Given the description of an element on the screen output the (x, y) to click on. 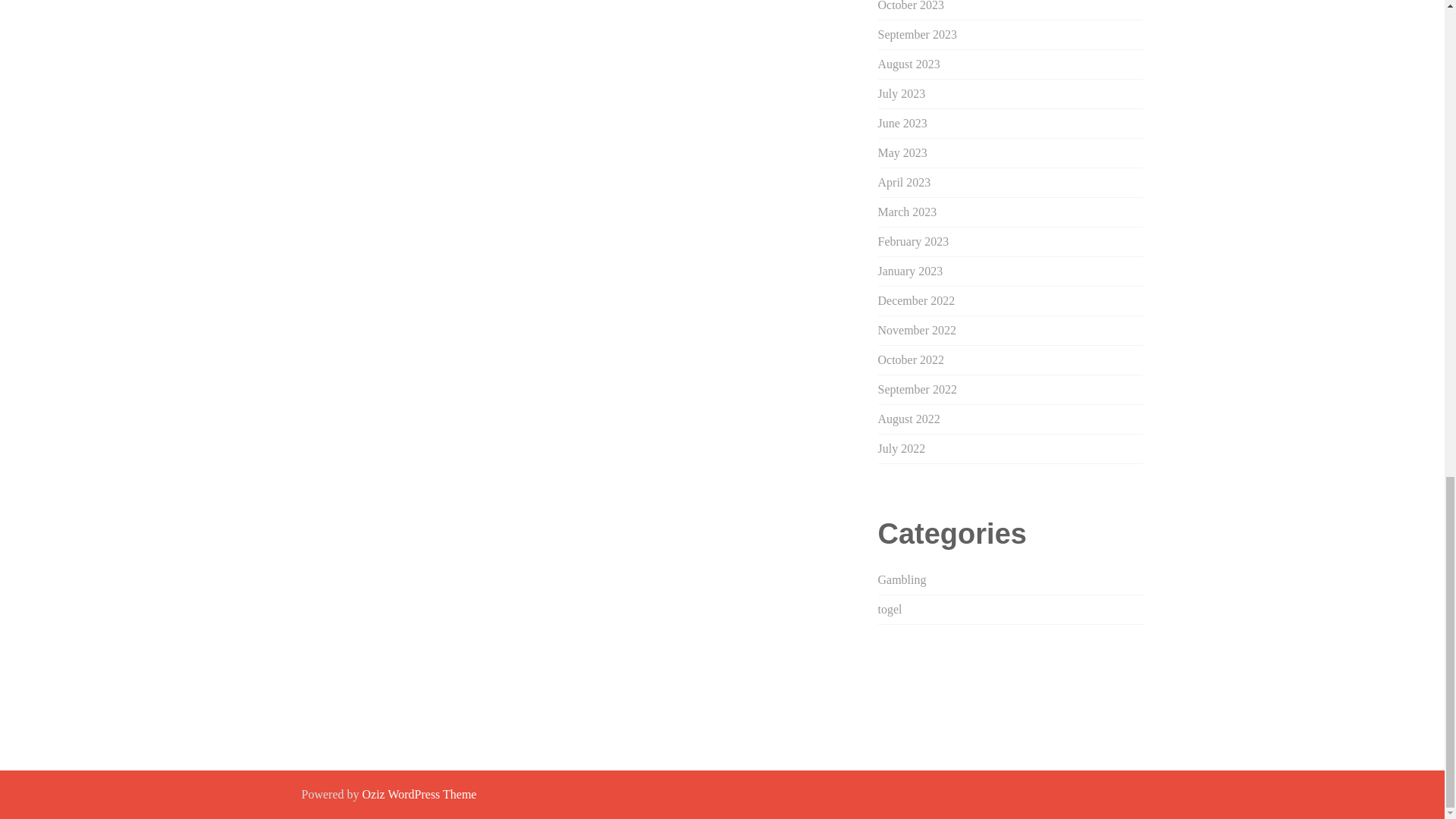
July 2023 (901, 92)
January 2023 (910, 270)
October 2022 (910, 359)
June 2023 (902, 123)
April 2023 (904, 182)
October 2023 (910, 5)
December 2022 (916, 300)
August 2023 (908, 63)
February 2023 (913, 241)
May 2023 (902, 152)
